Given the description of an element on the screen output the (x, y) to click on. 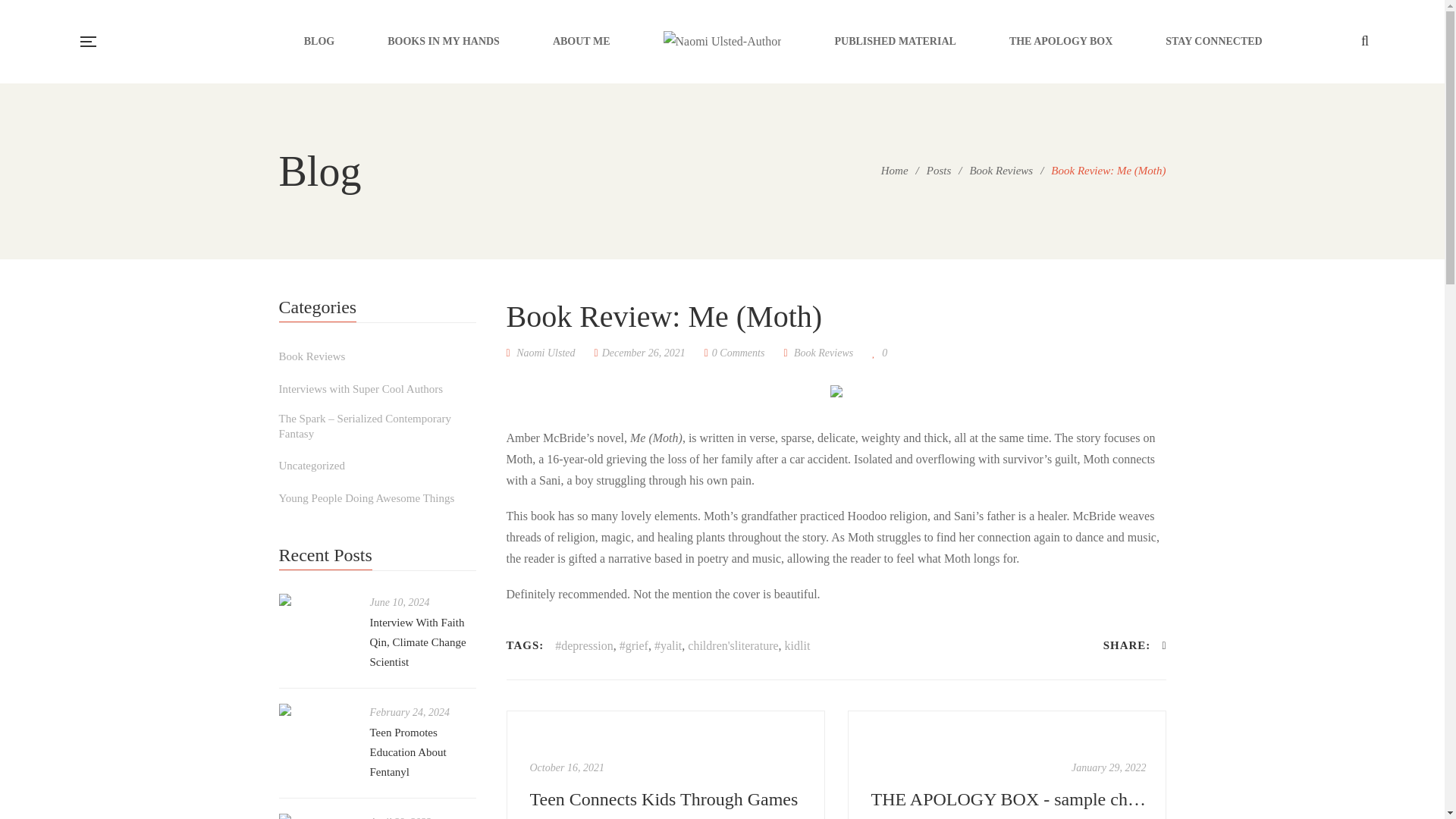
Book Reviews (823, 352)
0 (879, 352)
January 29, 2022 (1108, 767)
Naomi Ulsted (540, 352)
Book Reviews (1000, 170)
Teen Connects Kids Through Games (667, 799)
THE APOLOGY BOX - sample chapter (1007, 799)
Book Reviews (312, 355)
BLOG (319, 41)
BOOKS IN MY HANDS (443, 41)
PUBLISHED MATERIAL (894, 41)
STAY CONNECTED (1214, 41)
ABOUT ME (581, 41)
Teen Connects Kids Through Games (665, 764)
THE APOLOGY BOX - sample chapter (1006, 764)
